Given the description of an element on the screen output the (x, y) to click on. 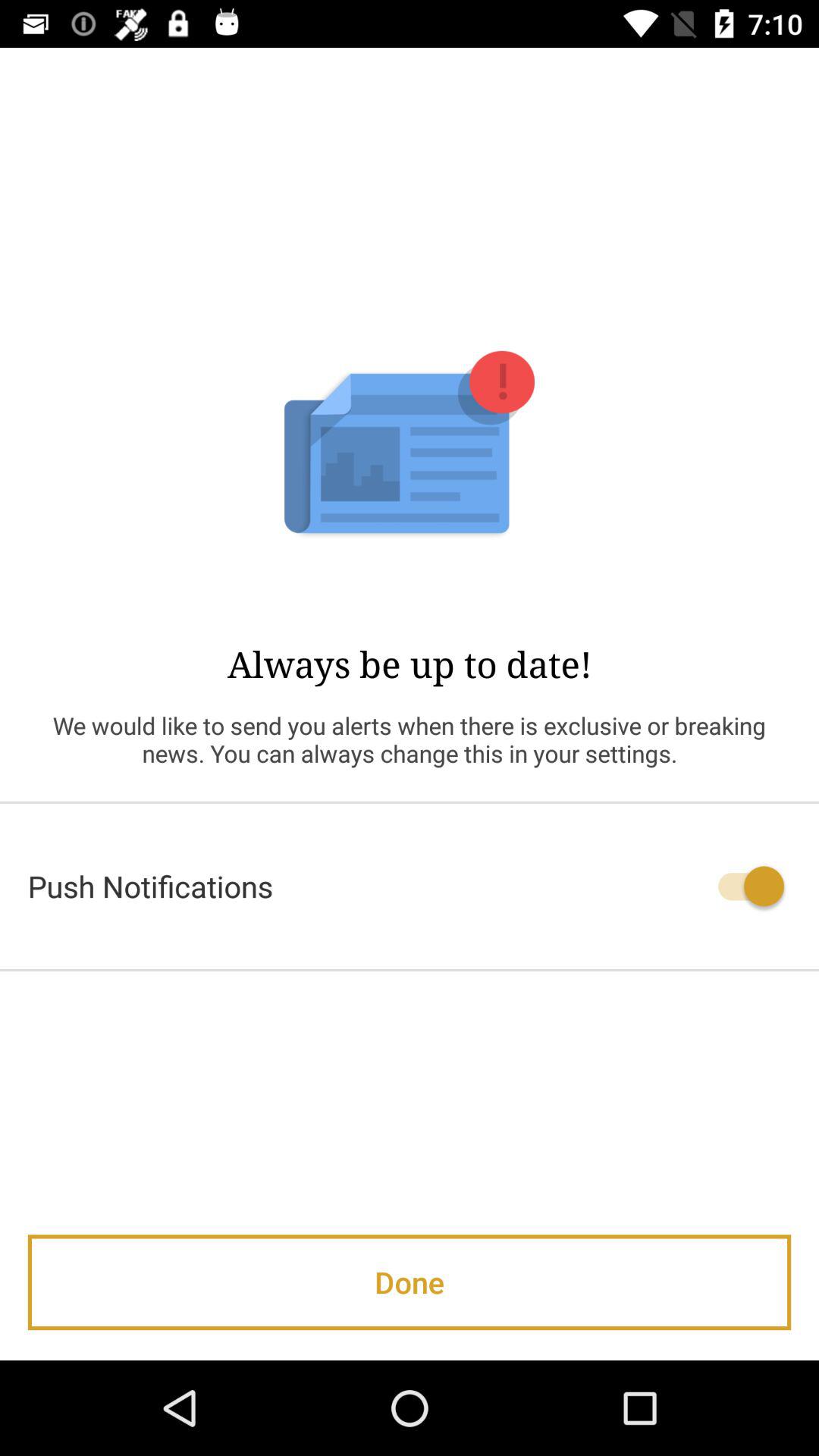
open the push notifications icon (409, 886)
